Given the description of an element on the screen output the (x, y) to click on. 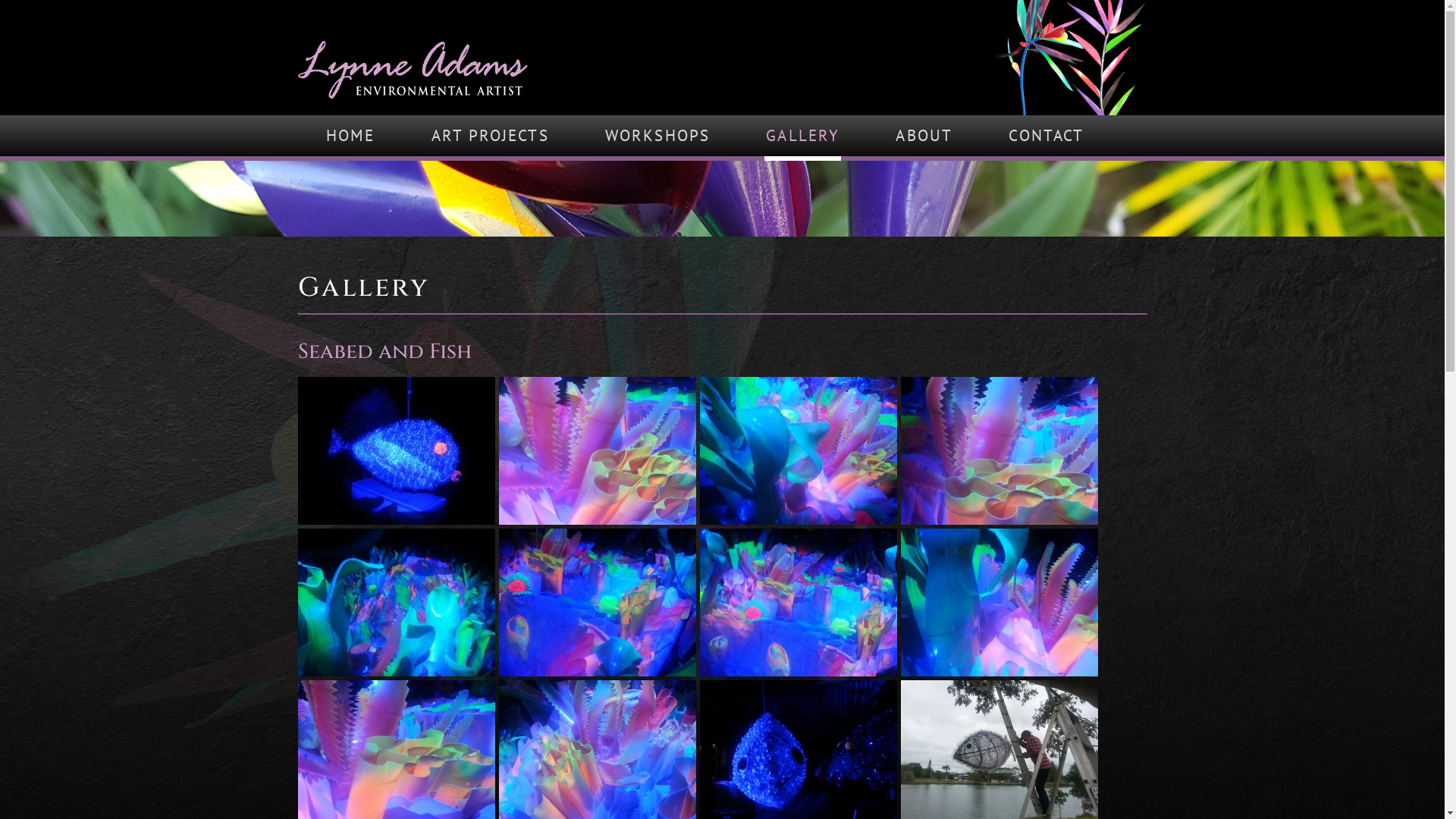
ART PROJECTS Element type: text (489, 137)
GALLERY Element type: text (802, 137)
CONTACT Element type: text (1046, 137)
HOME Element type: text (350, 137)
ABOUT Element type: text (923, 137)
WORKSHOPS Element type: text (657, 137)
